Given the description of an element on the screen output the (x, y) to click on. 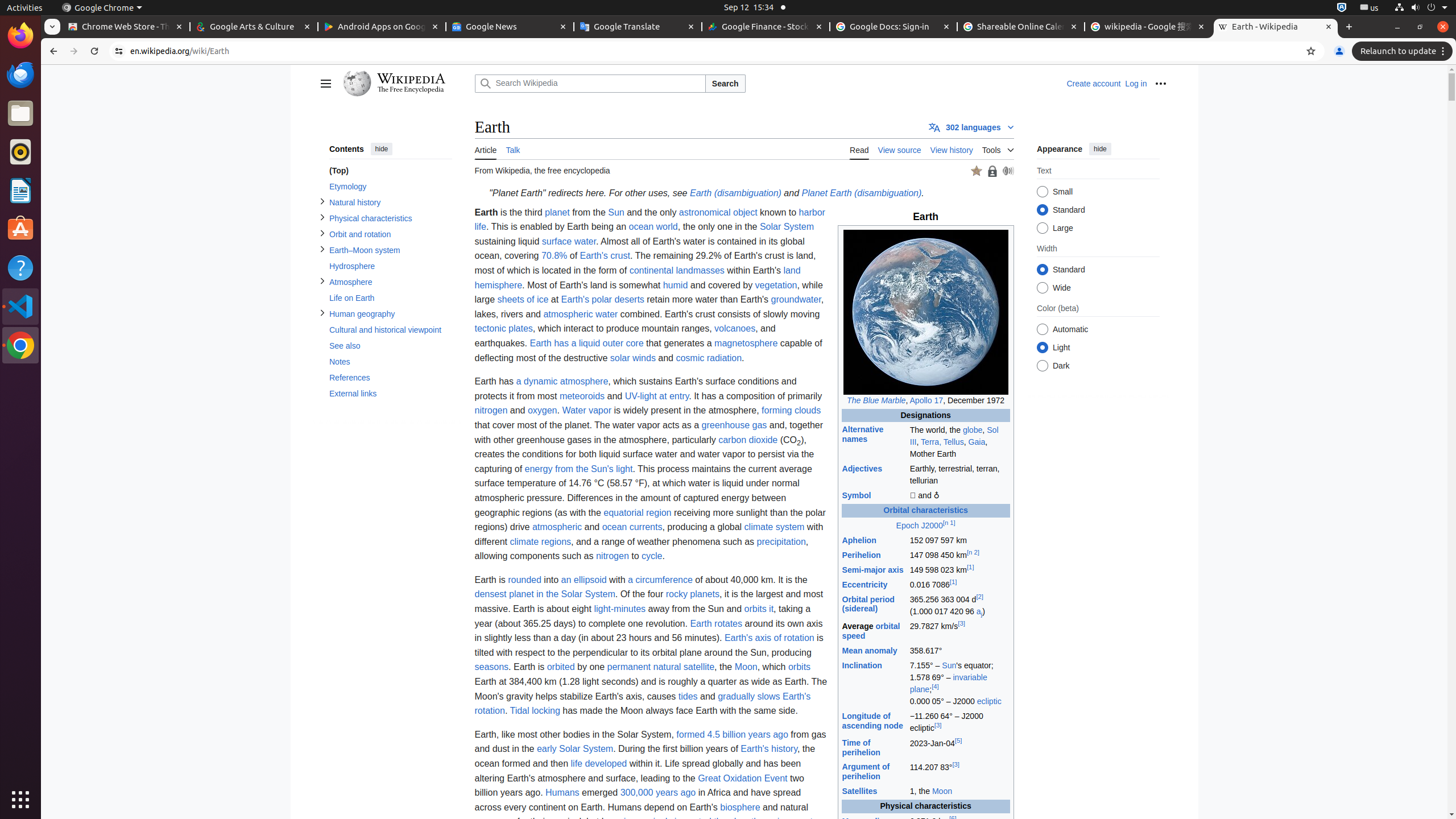
Solar System Element type: link (786, 226)
29.7827 km/s[3] Element type: table-cell (959, 630)
Hydrosphere Element type: link (390, 266)
Earth–Moon system Element type: link (390, 250)
Aphelion Element type: link (858, 539)
